Given the description of an element on the screen output the (x, y) to click on. 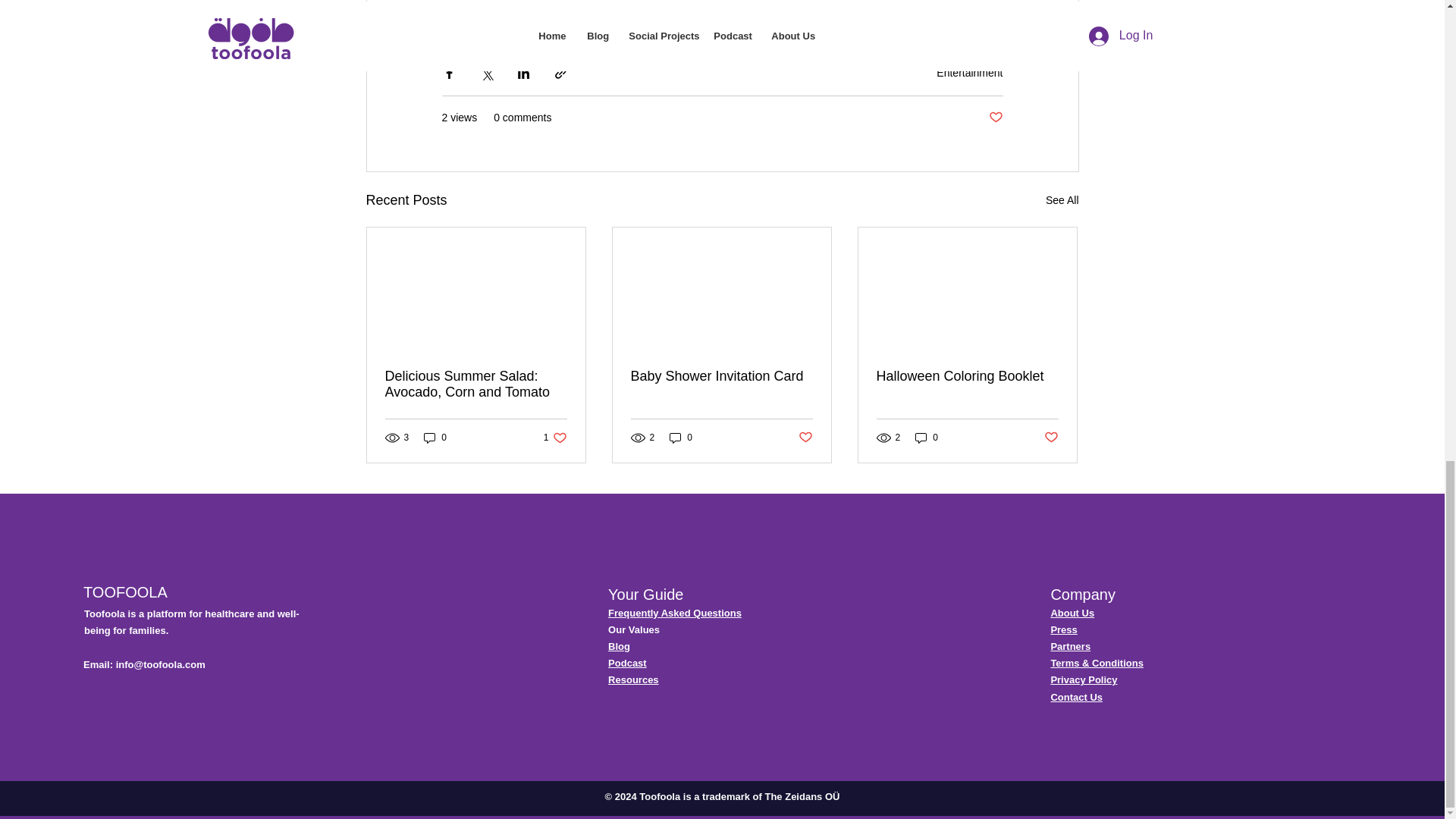
Crafts (465, 15)
Blog (619, 645)
Delicious Summer Salad: Avocado, Corn and Tomato (476, 384)
Baby Shower Invitation Card (721, 376)
0 (681, 437)
Podcast (627, 663)
Resources (633, 679)
0 (435, 437)
Frequently Asked Questions (674, 613)
Post not marked as liked (995, 117)
See All (1061, 200)
Post not marked as liked (804, 437)
Halloween Coloring Booklet (555, 437)
Post not marked as liked (967, 376)
